Given the description of an element on the screen output the (x, y) to click on. 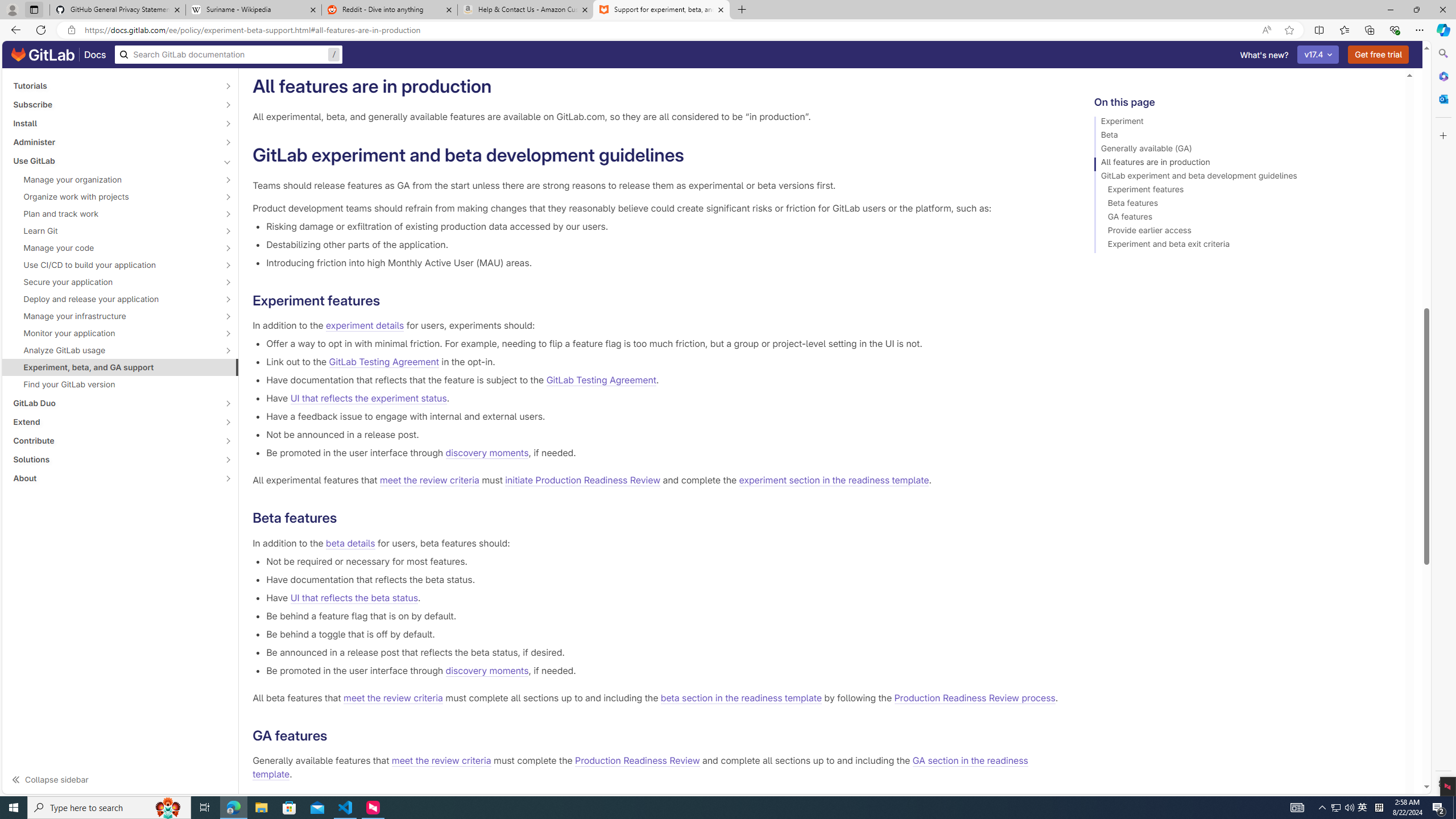
GitLab experiment and beta development guidelines (1244, 177)
Have UI that reflects the beta status. (662, 597)
Help & Contact Us - Amazon Customer Service - Sleeping (525, 9)
Administer (113, 141)
GA features (1244, 218)
GitHub General Privacy Statement - GitHub Docs (117, 9)
experiment section in the readiness template (833, 480)
